Given the description of an element on the screen output the (x, y) to click on. 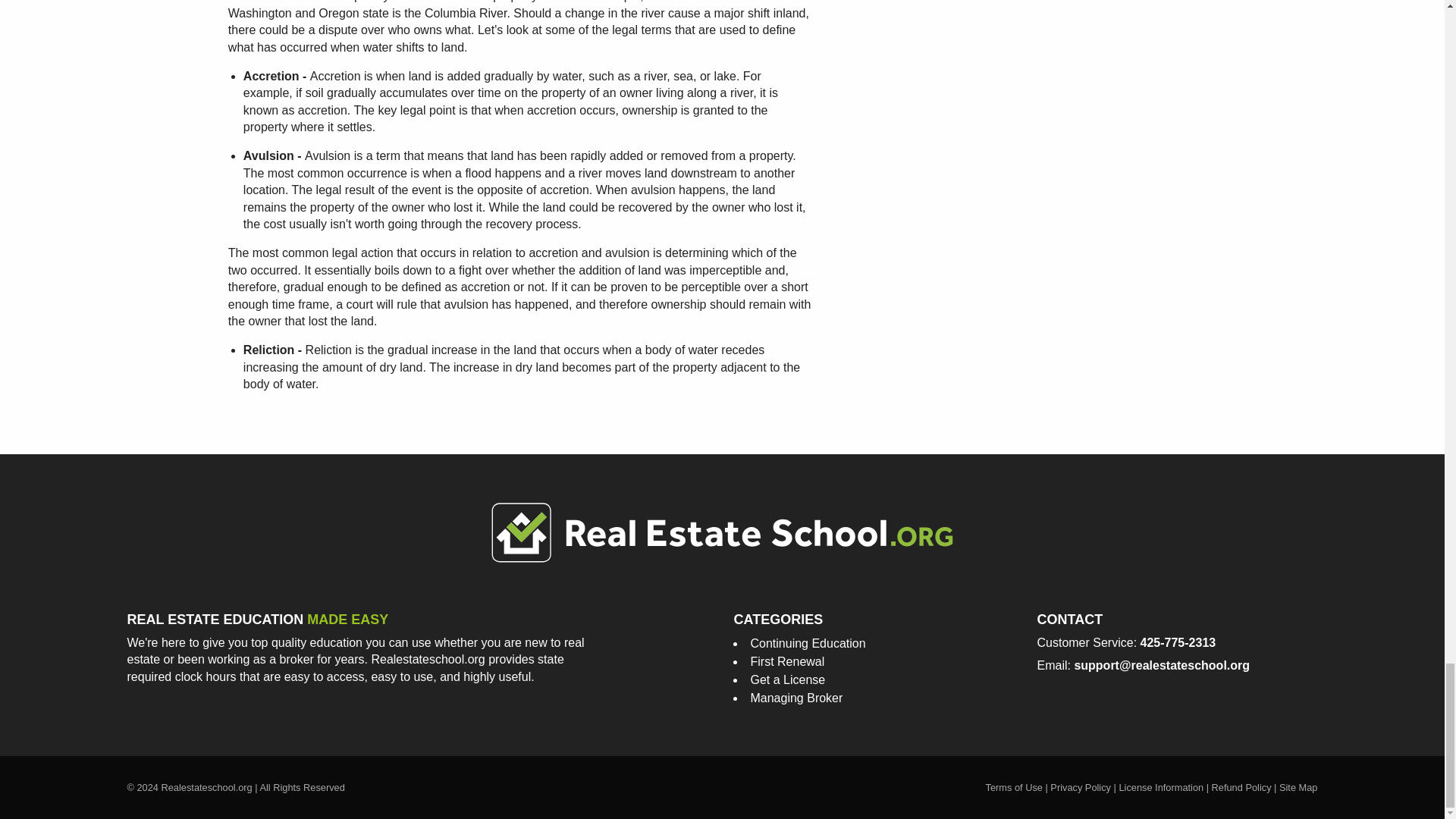
425-775-2313 (1177, 642)
Refund Policy (1241, 787)
Continuing Education (806, 643)
First Renewal (786, 661)
License Information (1161, 787)
Managing Broker (796, 697)
Privacy Policy (1079, 787)
Get a License (787, 679)
Site Map (1298, 787)
Terms of Use (1013, 787)
